Given the description of an element on the screen output the (x, y) to click on. 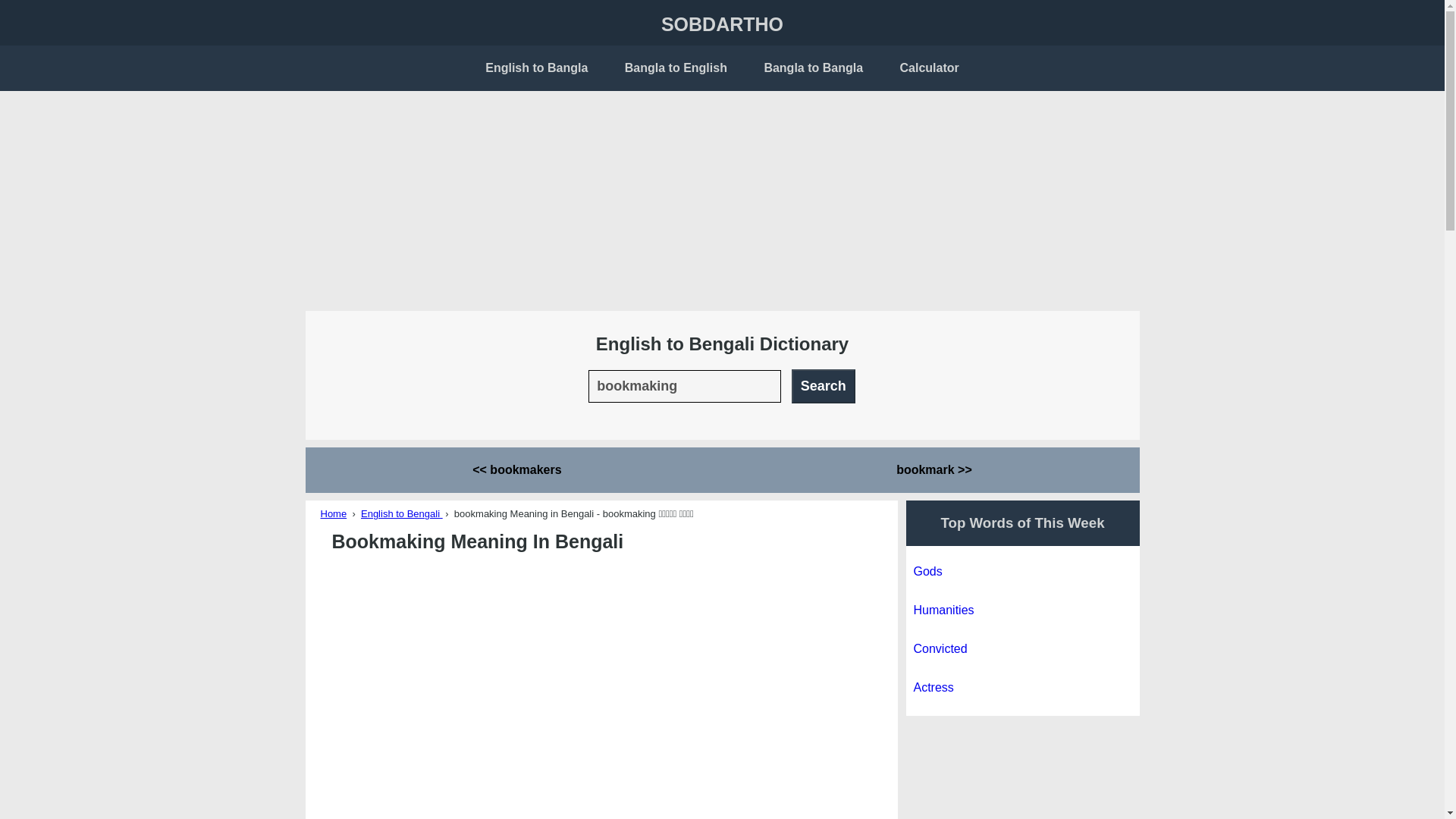
Humanities (943, 609)
Bangla to English (676, 67)
English to Bengali (401, 513)
Home (333, 513)
bookmaking (684, 385)
English-to-Bengali (401, 513)
Actress (932, 686)
Search (824, 385)
SOBDARTHO (722, 24)
Calculator (929, 67)
English to Bangla (536, 67)
Gods (927, 571)
Convicted (939, 648)
Bangla to Bangla (812, 67)
Home (333, 513)
